Given the description of an element on the screen output the (x, y) to click on. 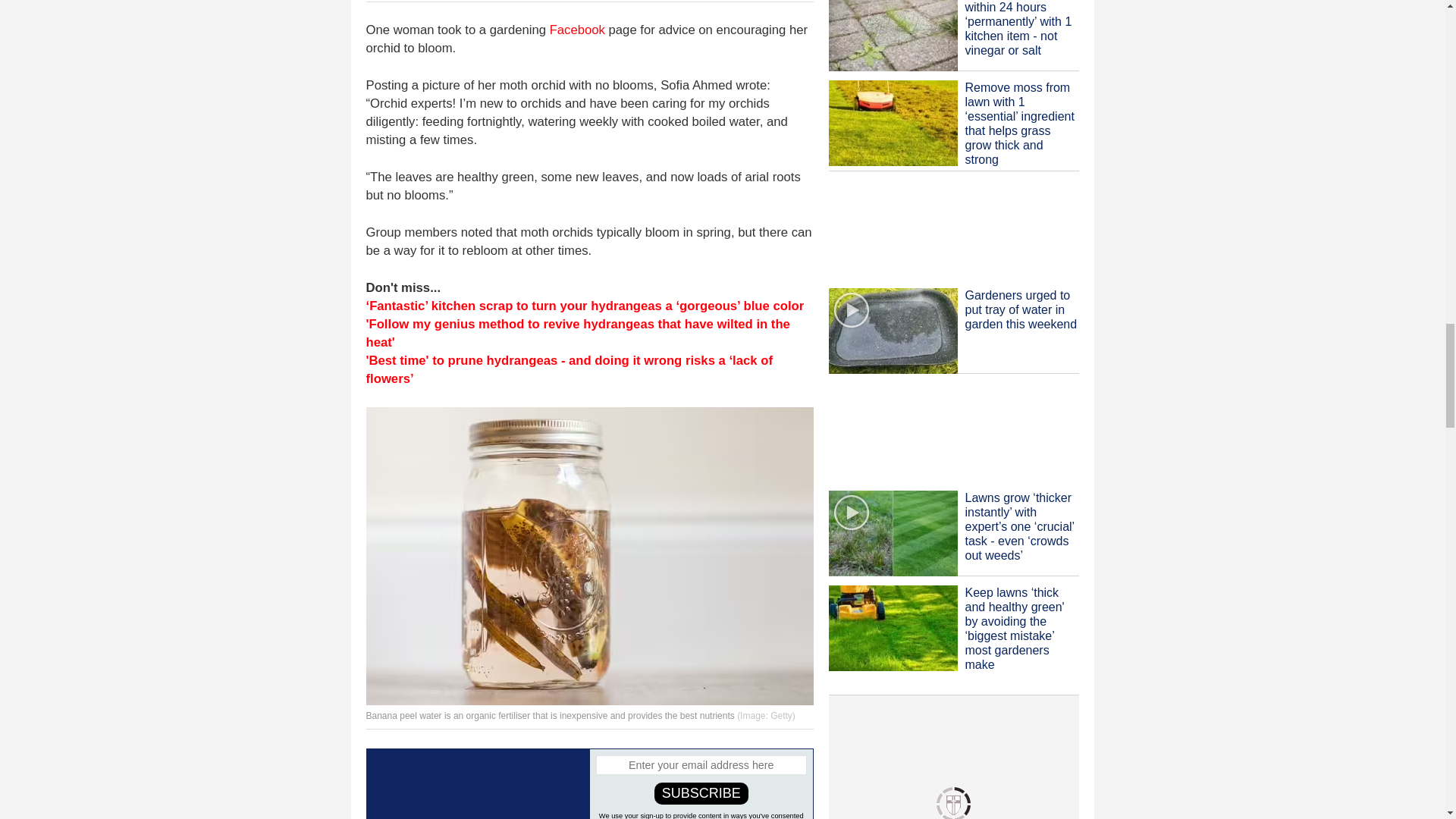
Sign up for FREE royal alerts (477, 783)
how to remove weeds patio fast for good (892, 35)
Facebook (577, 29)
